Given the description of an element on the screen output the (x, y) to click on. 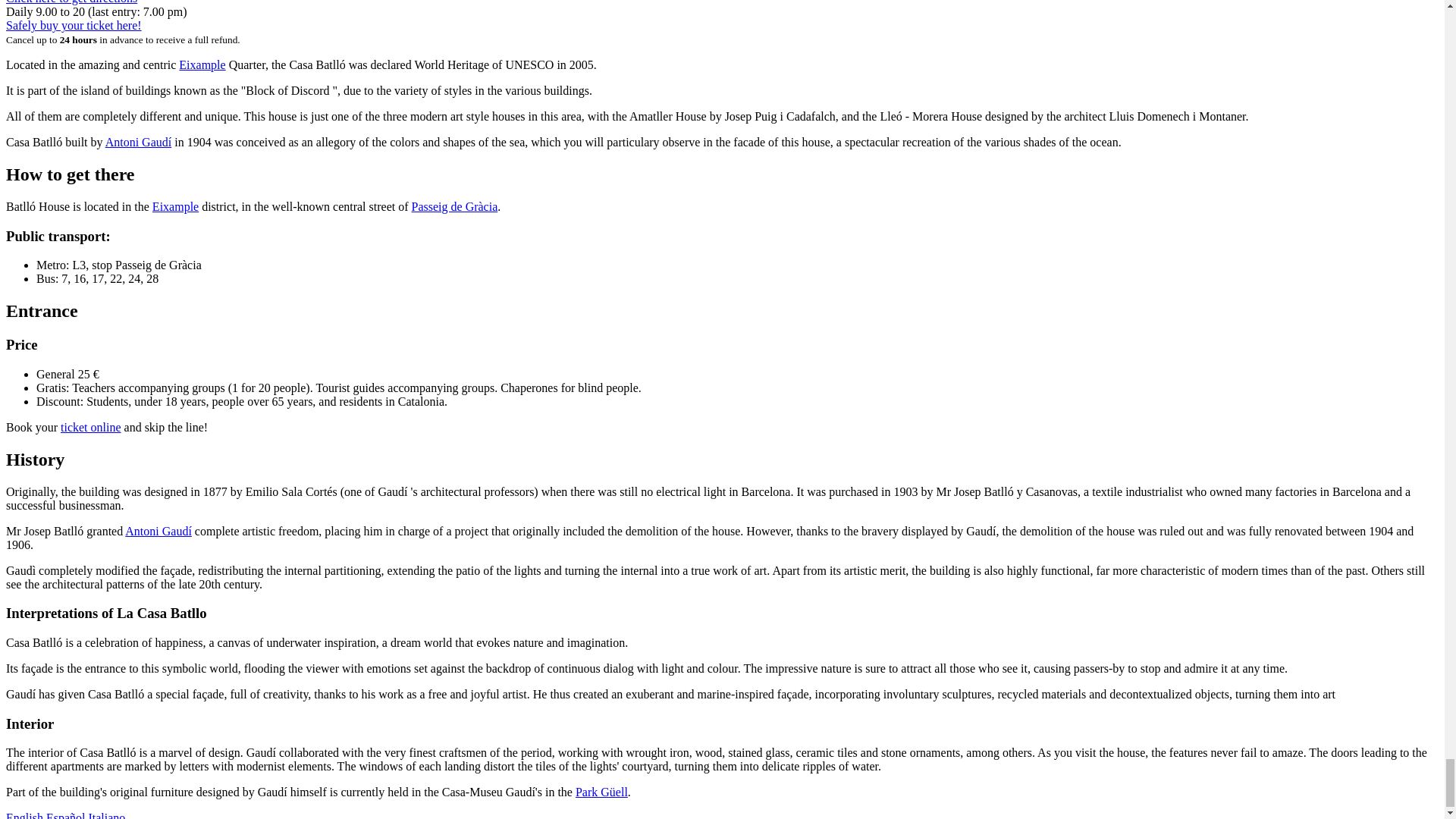
Safely buy your ticket here! (73, 24)
Eixample, the modernism district (175, 205)
Eixample, the modernism district (202, 64)
Eixample (175, 205)
ticket online (90, 427)
Click here to get directions (70, 2)
Eixample (202, 64)
